Given the description of an element on the screen output the (x, y) to click on. 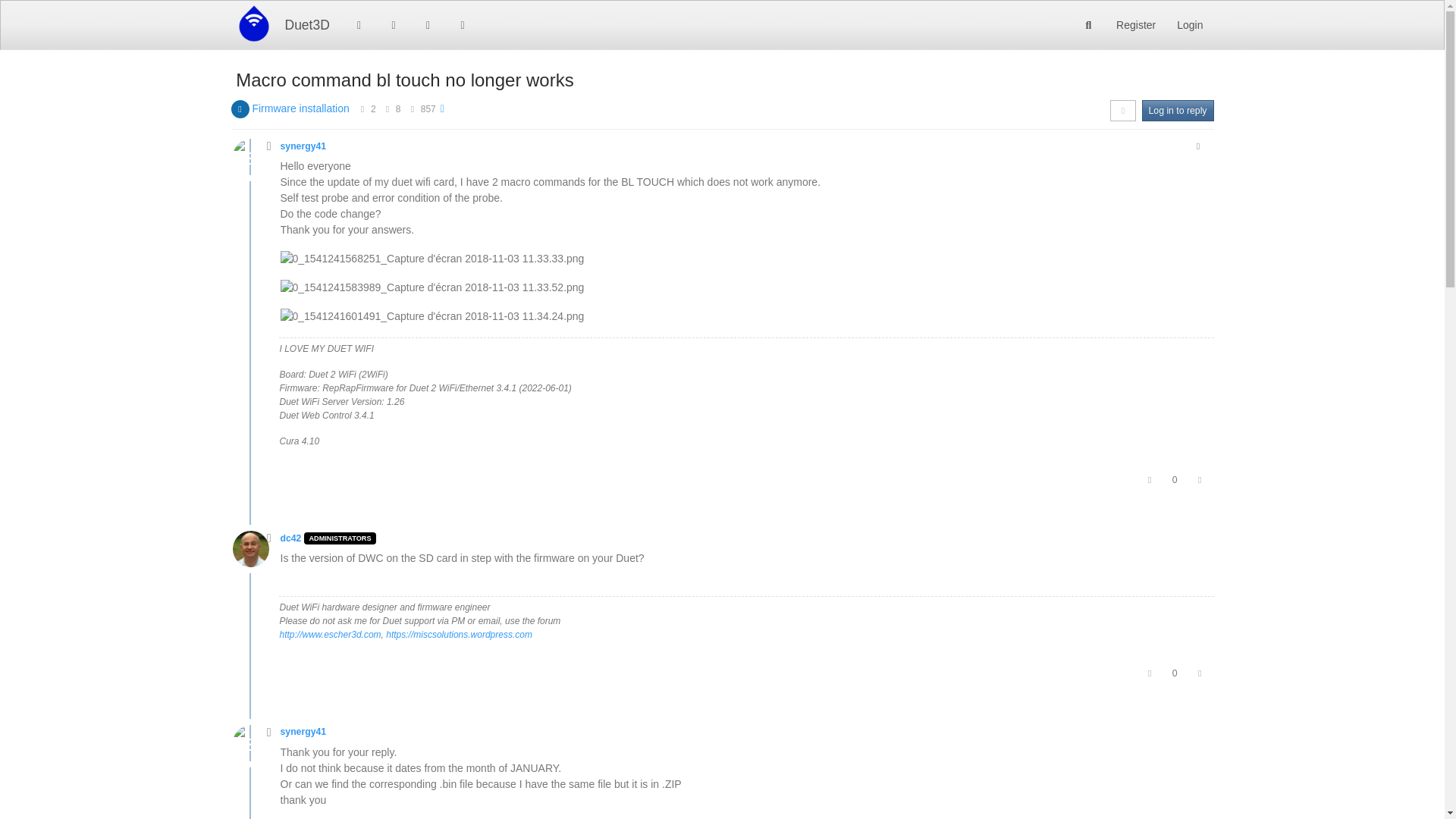
Posters (362, 108)
Sort by (1122, 110)
Log in to reply (1177, 110)
Views (411, 108)
Categories (359, 24)
dc42 (291, 538)
Login (1189, 24)
857 (427, 109)
Register (1135, 24)
Tags (392, 24)
Search (1088, 24)
Firmware installation (300, 108)
synergy41 (303, 145)
Duet3D  documentation (427, 24)
Order a Duet  (462, 24)
